Given the description of an element on the screen output the (x, y) to click on. 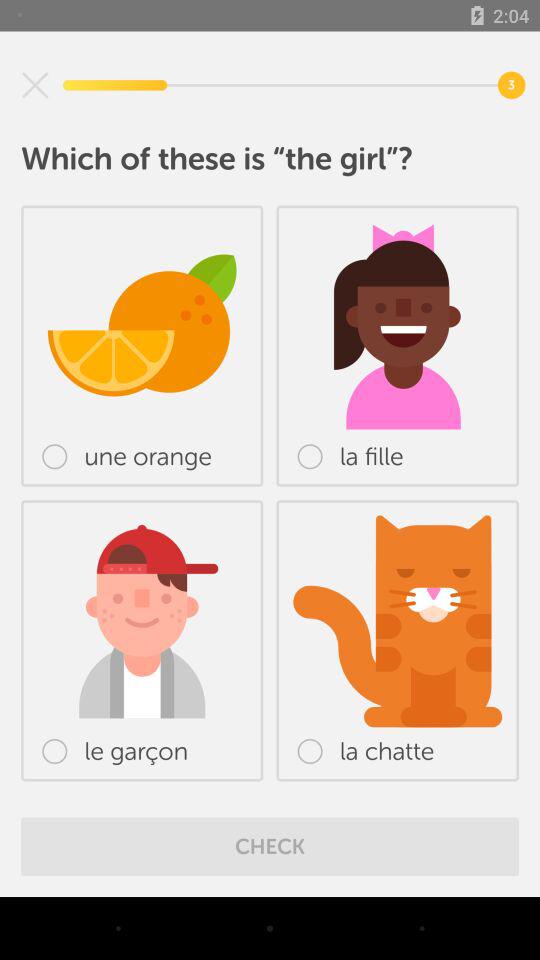
exit (35, 85)
